Given the description of an element on the screen output the (x, y) to click on. 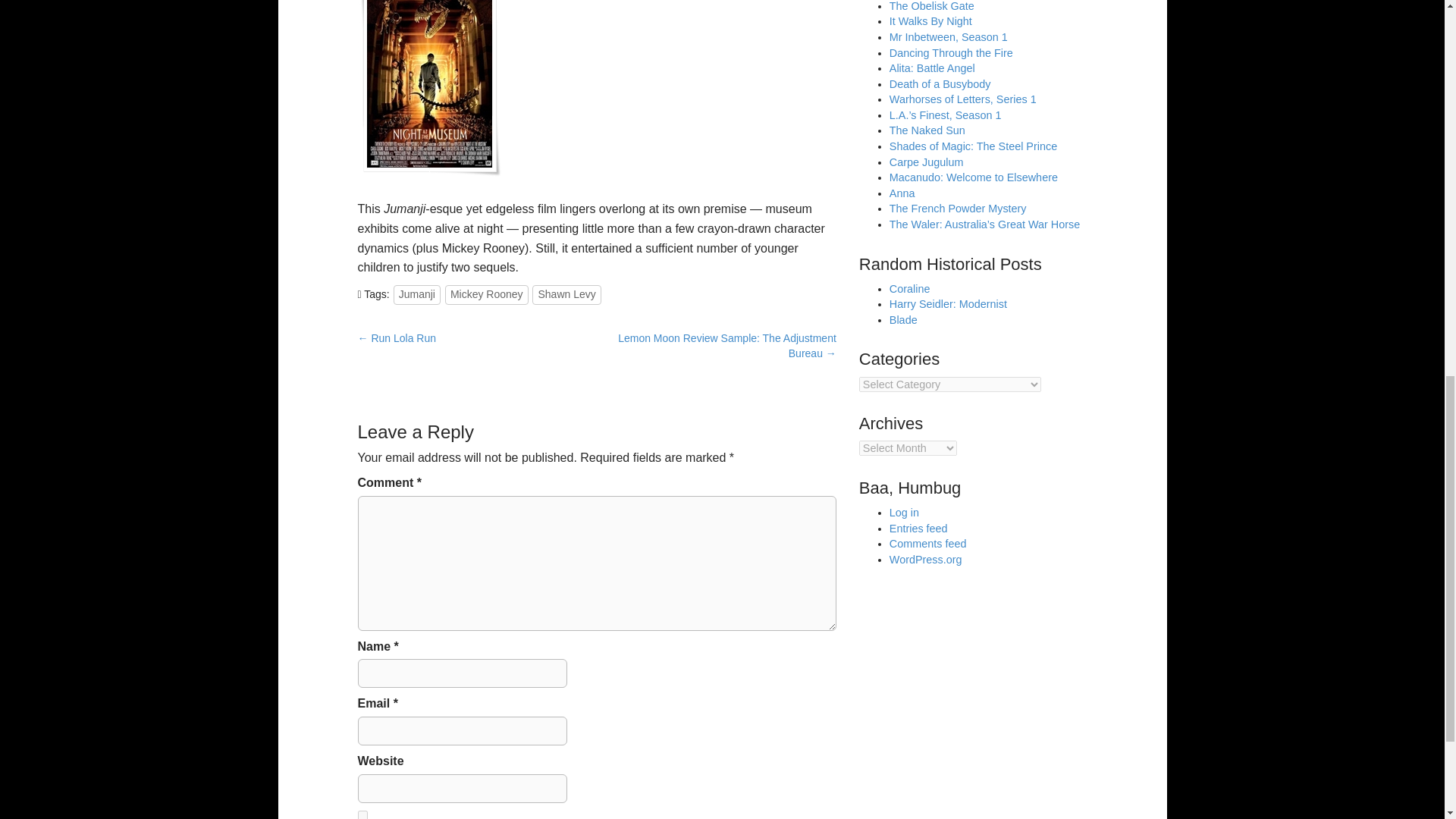
Mr Inbetween, Season 1 (948, 37)
Jumanji (417, 294)
The Obelisk Gate (931, 6)
Mickey Rooney (486, 294)
Shawn Levy (565, 294)
yes (363, 814)
Dancing Through the Fire (951, 52)
It Walks By Night (930, 21)
